Given the description of an element on the screen output the (x, y) to click on. 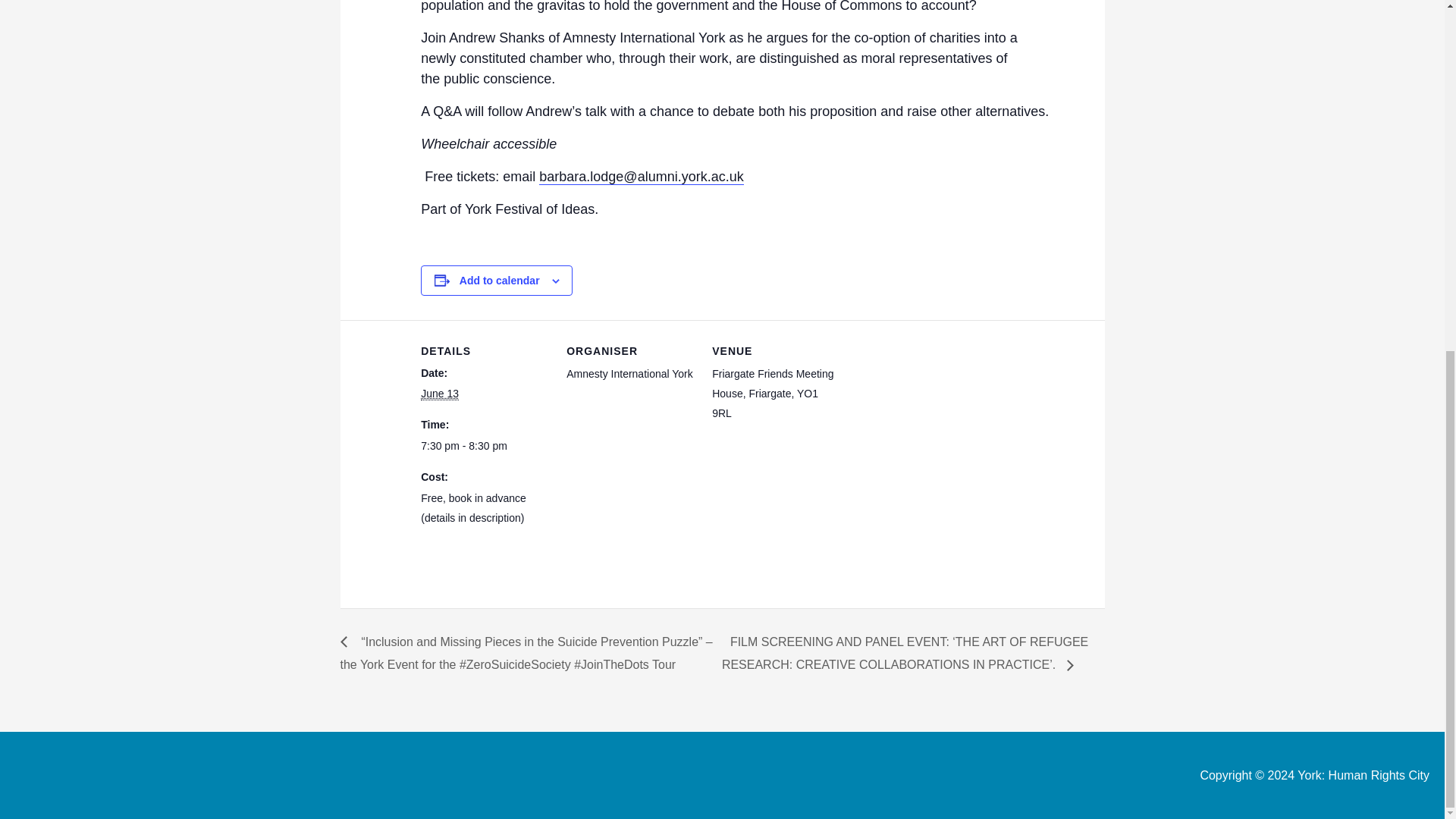
2024-06-13 (439, 393)
2024-06-13 (484, 446)
Add to calendar (500, 280)
